Given the description of an element on the screen output the (x, y) to click on. 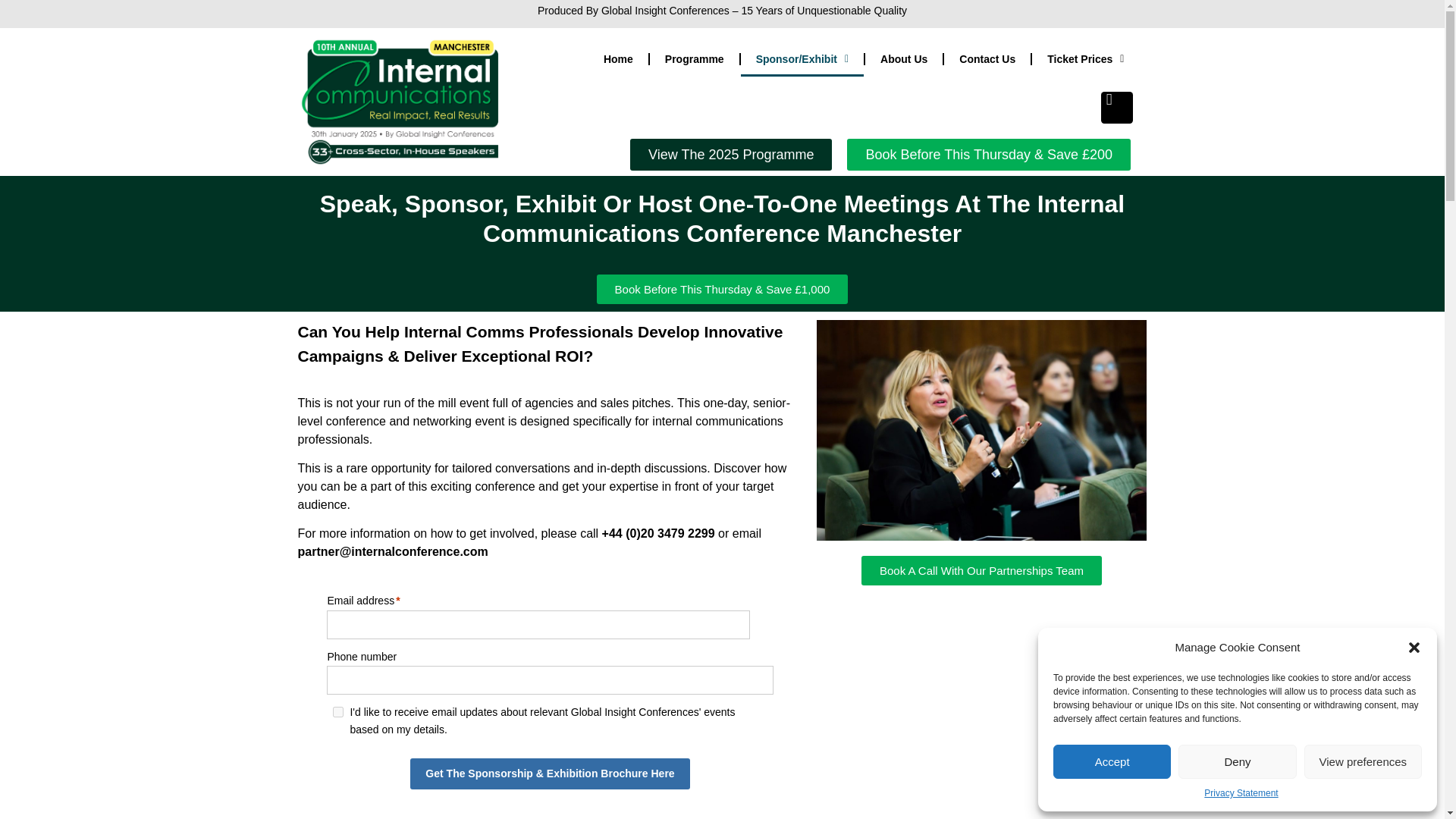
View The 2025 Programme (730, 154)
Contact Us (986, 58)
About Us (903, 58)
Home (617, 58)
Accept (1111, 761)
Privacy Statement (1241, 793)
View preferences (1363, 761)
Deny (1236, 761)
Programme (694, 58)
Ticket Prices (1085, 58)
